Given the description of an element on the screen output the (x, y) to click on. 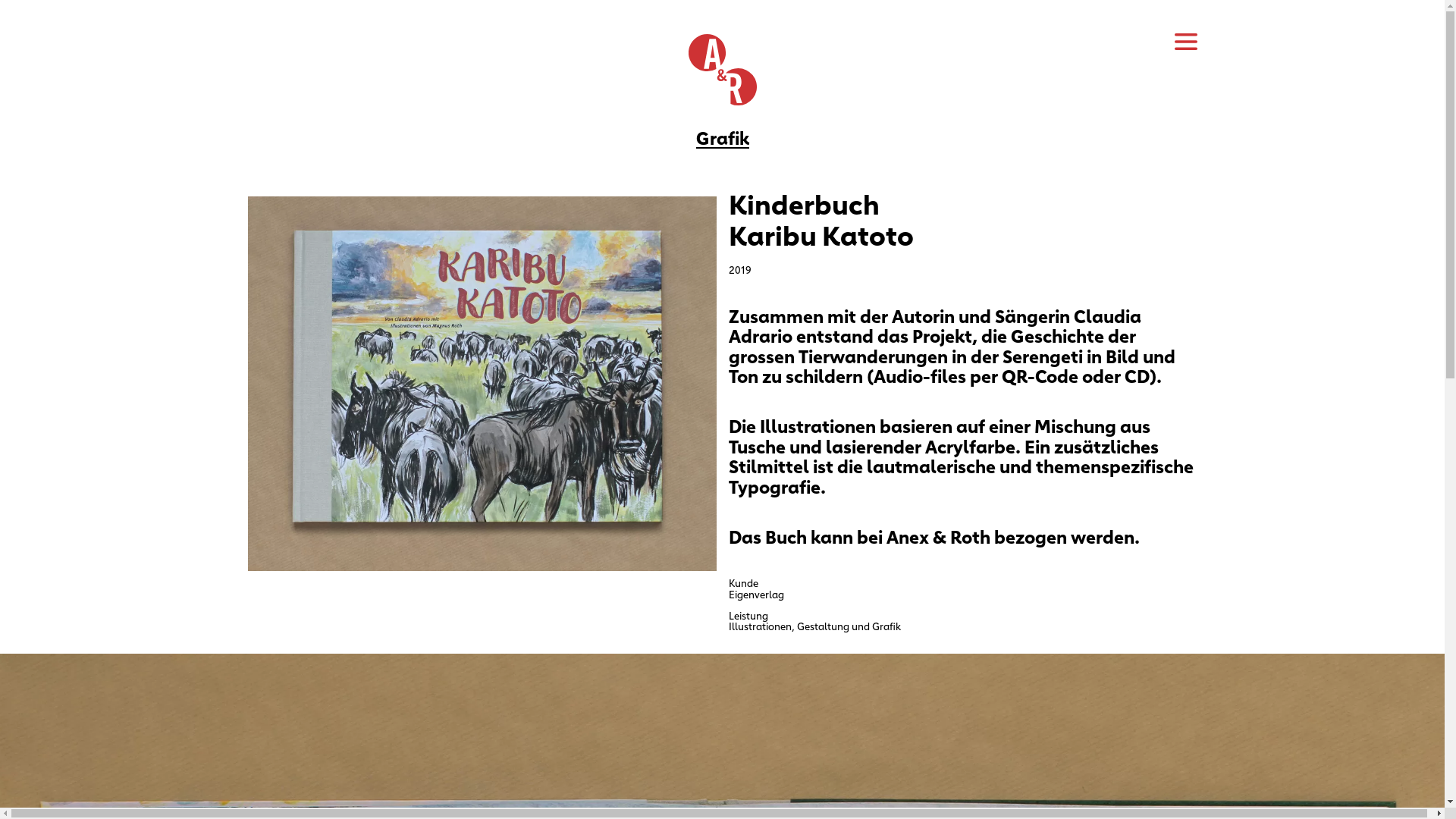
Grafik Element type: text (722, 136)
